Given the description of an element on the screen output the (x, y) to click on. 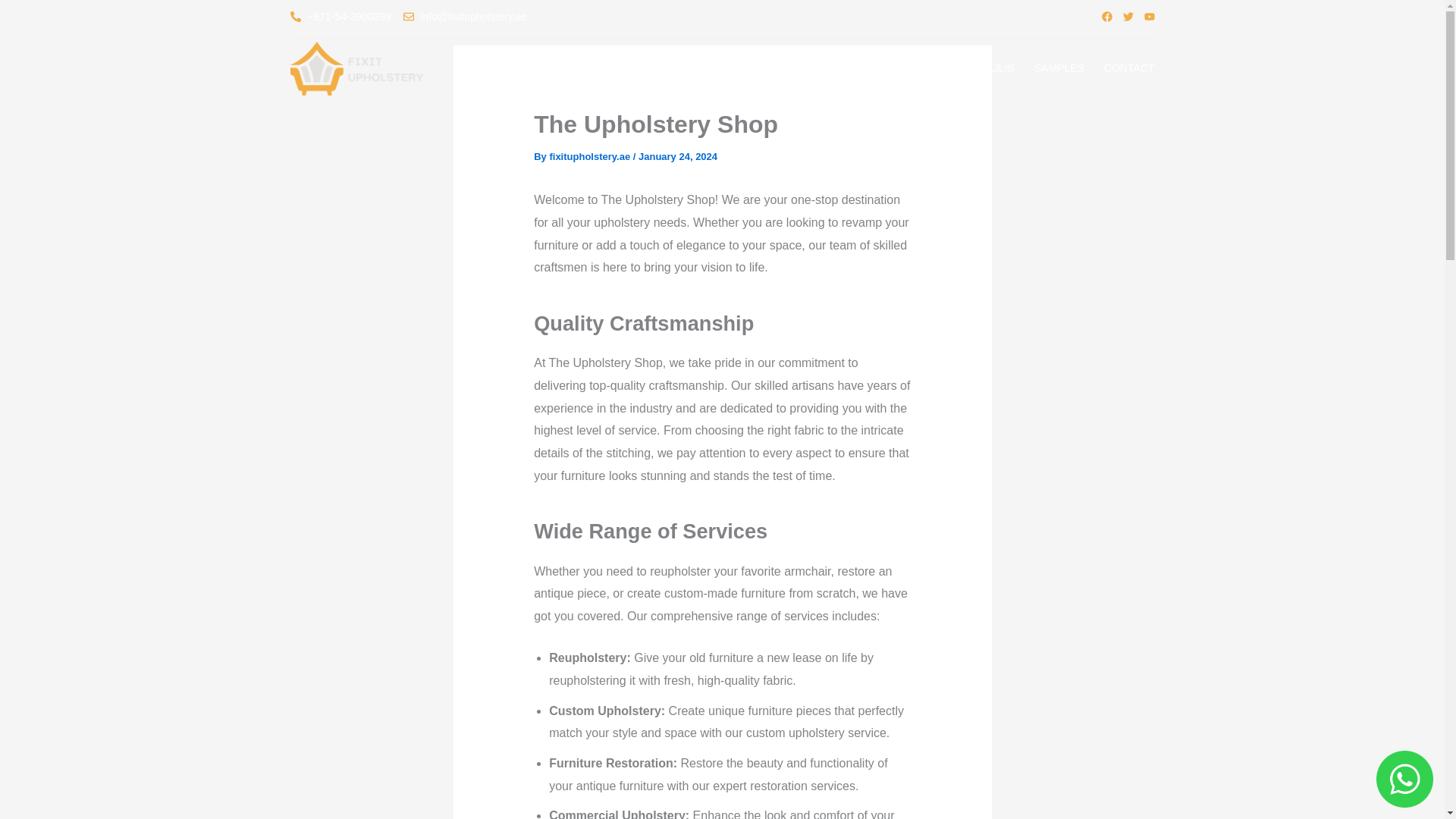
UPHOLSTERY (593, 68)
Youtube (1148, 16)
ABOUT US (514, 68)
Twitter (1127, 16)
REPAIRING (835, 68)
View all posts by fixitupholstery.ae (589, 156)
CUSHIONS (758, 68)
Facebook (1106, 16)
FURNITURE (680, 68)
